Given the description of an element on the screen output the (x, y) to click on. 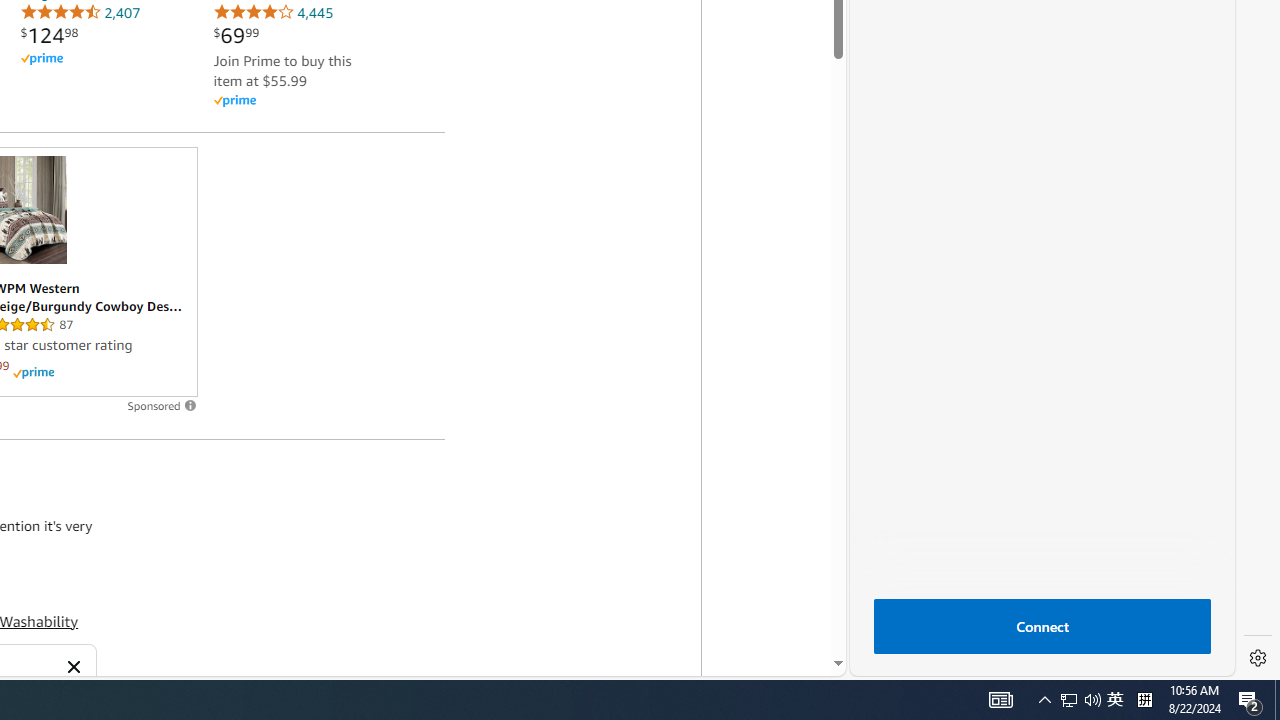
Connect (1042, 626)
4,445 (273, 12)
2,407 (80, 12)
Amazon Prime (292, 100)
$124.98 (49, 35)
$69.99 (235, 35)
Amazon Prime (234, 101)
Join Prime to buy this item at $55.99 (282, 70)
Prime (33, 371)
